Given the description of an element on the screen output the (x, y) to click on. 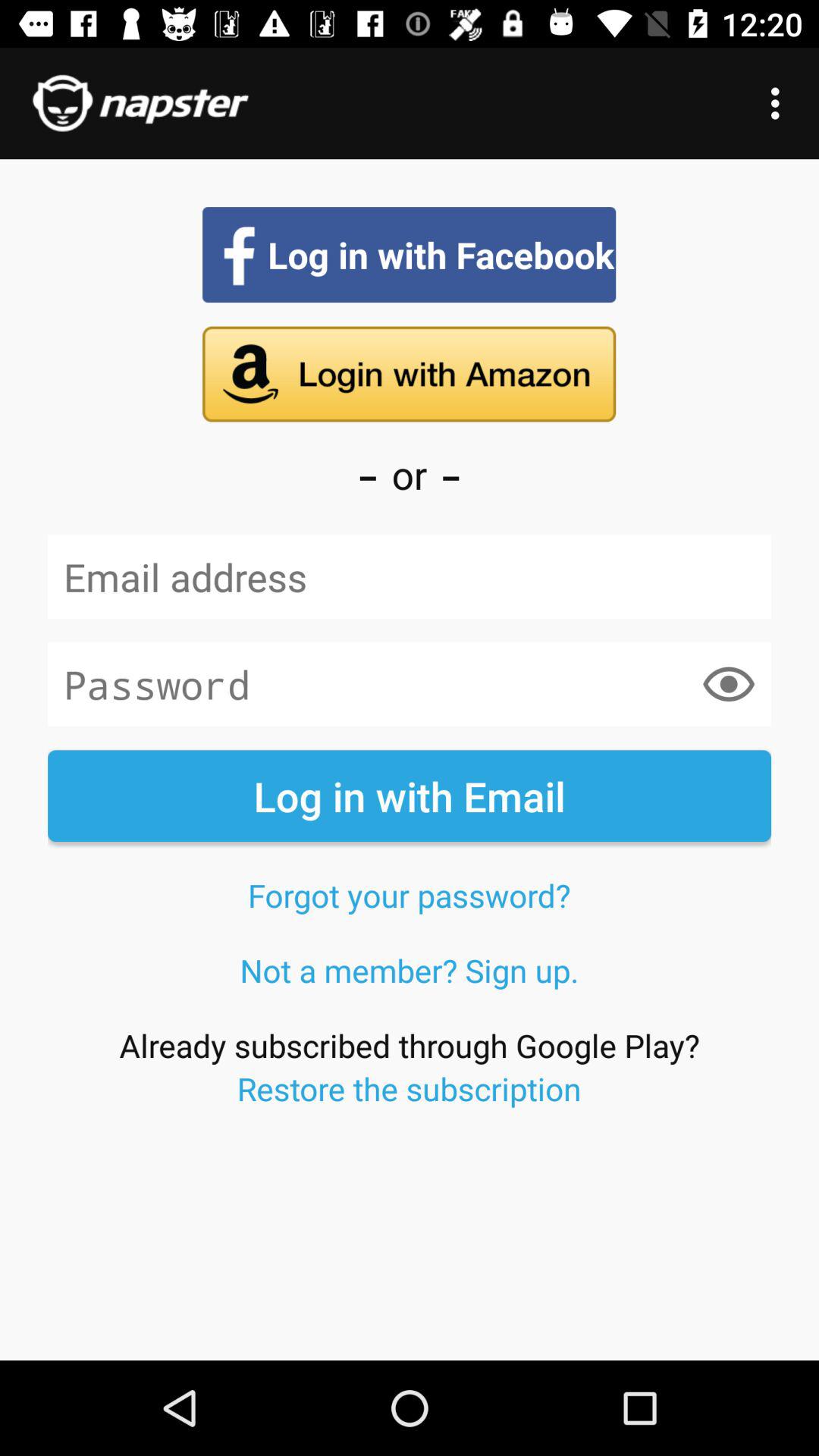
turn off the not a member (409, 969)
